Given the description of an element on the screen output the (x, y) to click on. 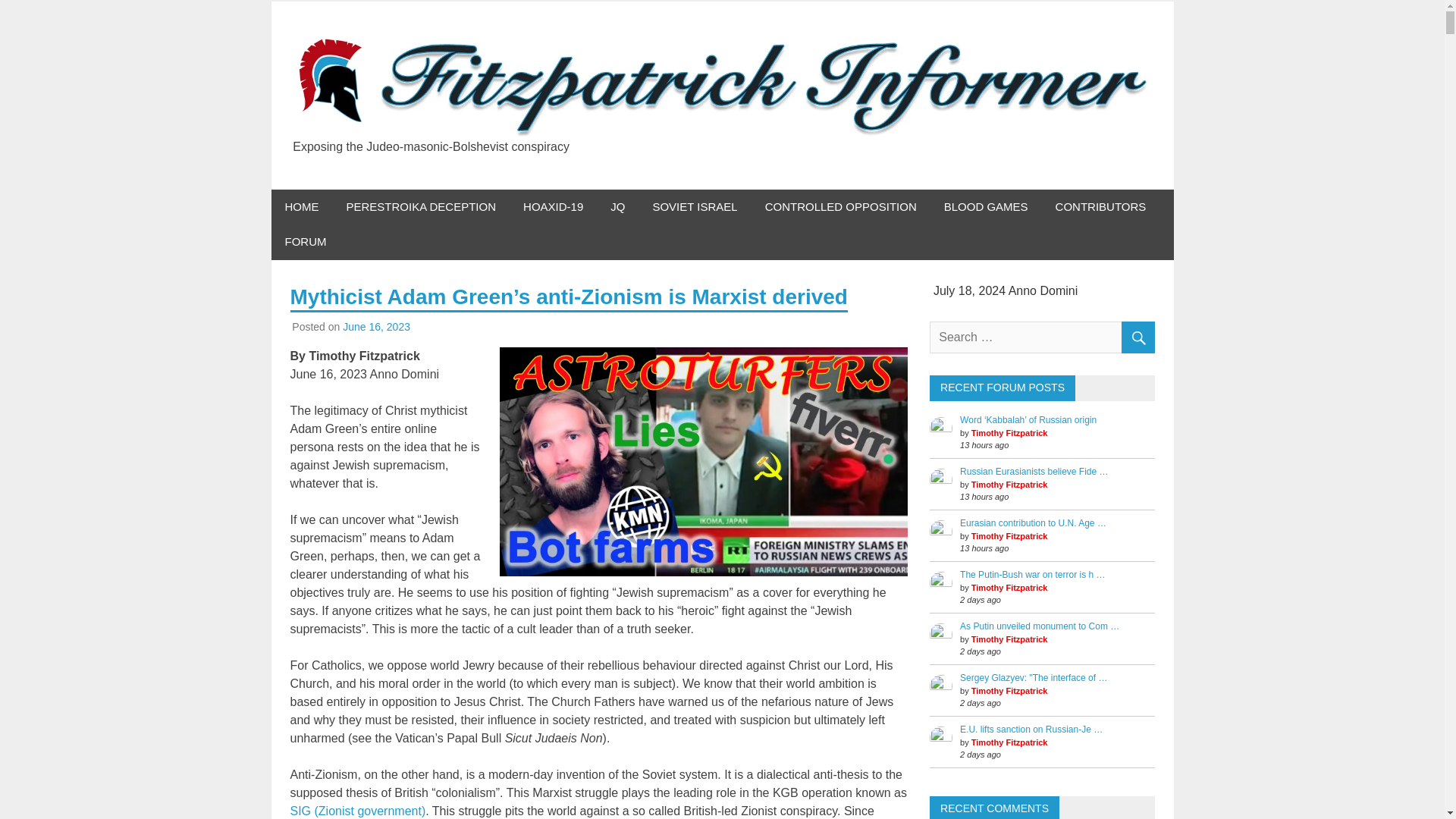
PERESTROIKA DECEPTION (420, 207)
SOVIET ISRAEL (695, 207)
JQ (617, 207)
Fitzpatrick Informer (427, 159)
HOME (301, 207)
HOAXID-19 (552, 207)
13:34 (376, 326)
